Given the description of an element on the screen output the (x, y) to click on. 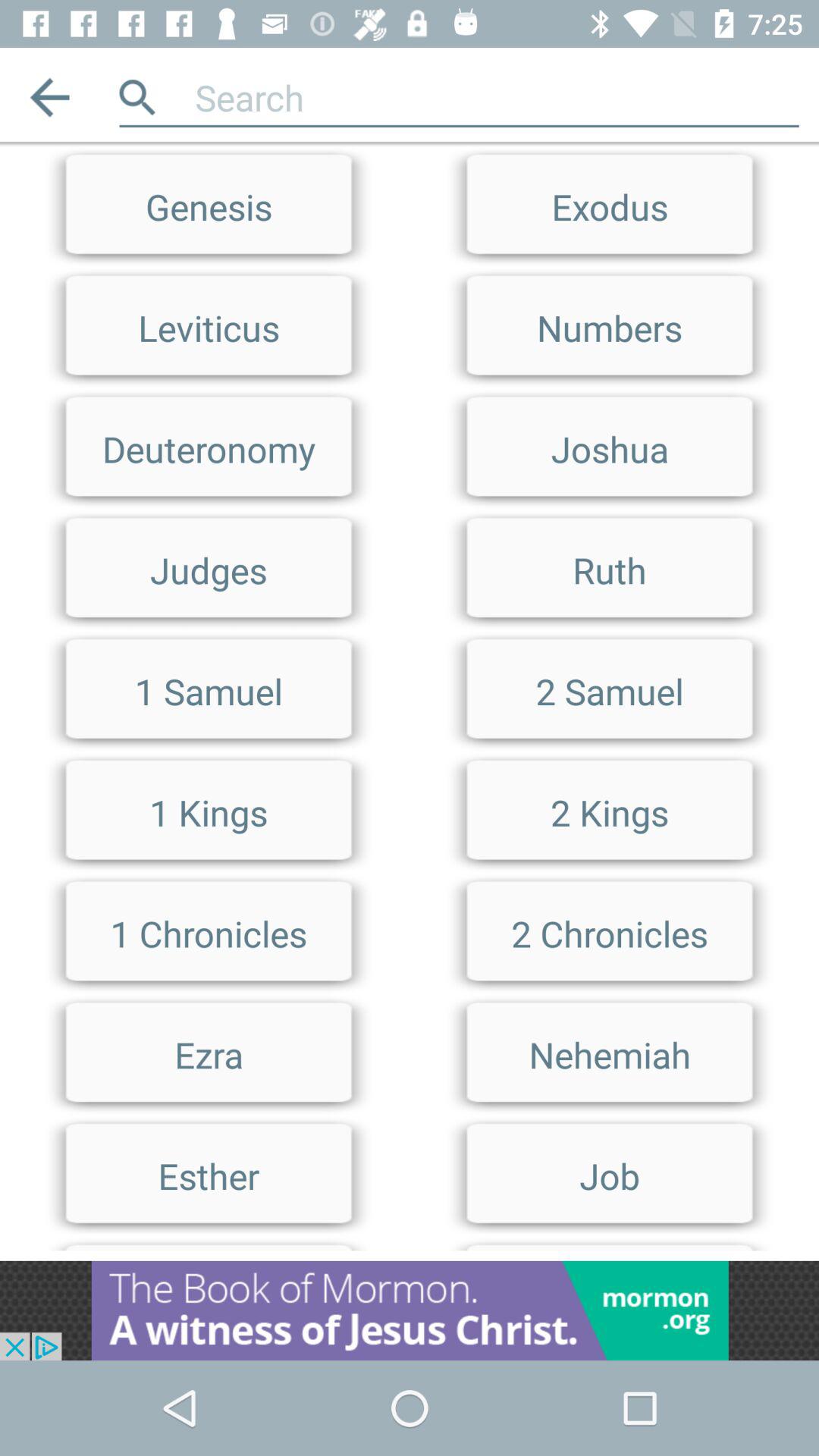
back (49, 97)
